Given the description of an element on the screen output the (x, y) to click on. 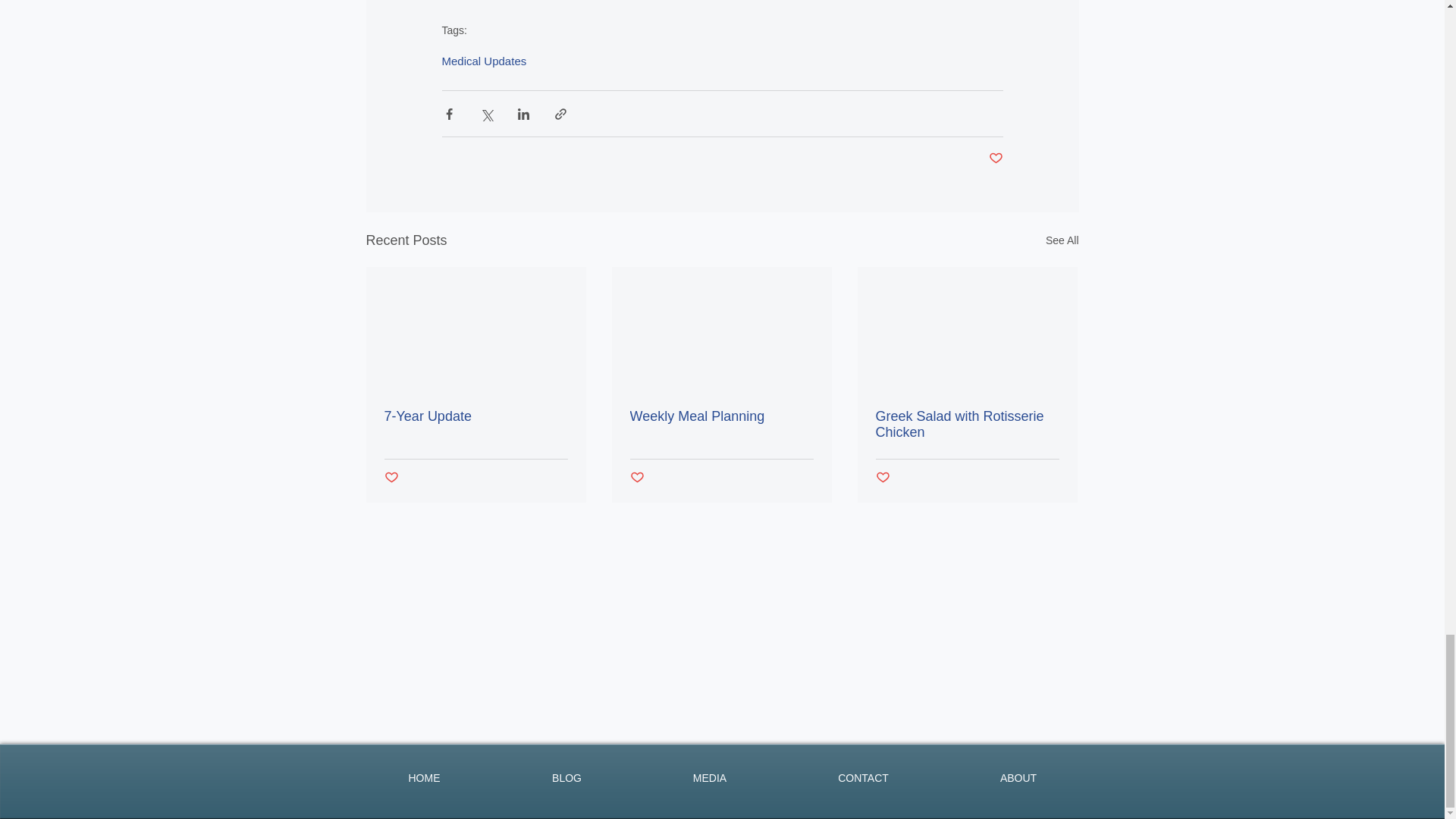
Post not marked as liked (995, 158)
Post not marked as liked (635, 478)
BLOG (566, 777)
7-Year Update (475, 416)
HOME (424, 777)
Greek Salad with Rotisserie Chicken (966, 424)
See All (1061, 240)
Post not marked as liked (882, 478)
Weekly Meal Planning (720, 416)
Medical Updates (483, 60)
